Given the description of an element on the screen output the (x, y) to click on. 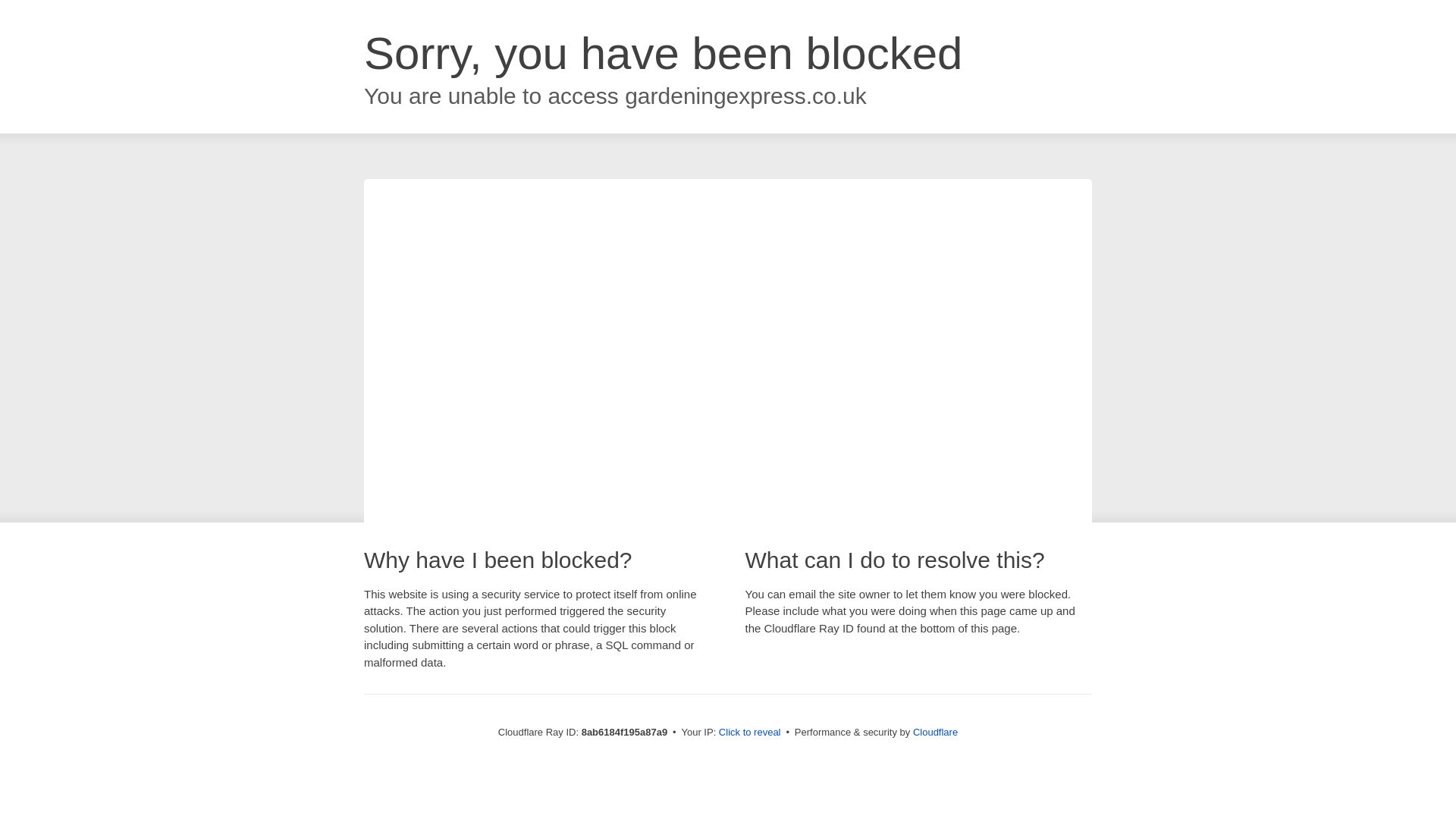
Cloudflare (935, 731)
Click to reveal (749, 732)
